Given the description of an element on the screen output the (x, y) to click on. 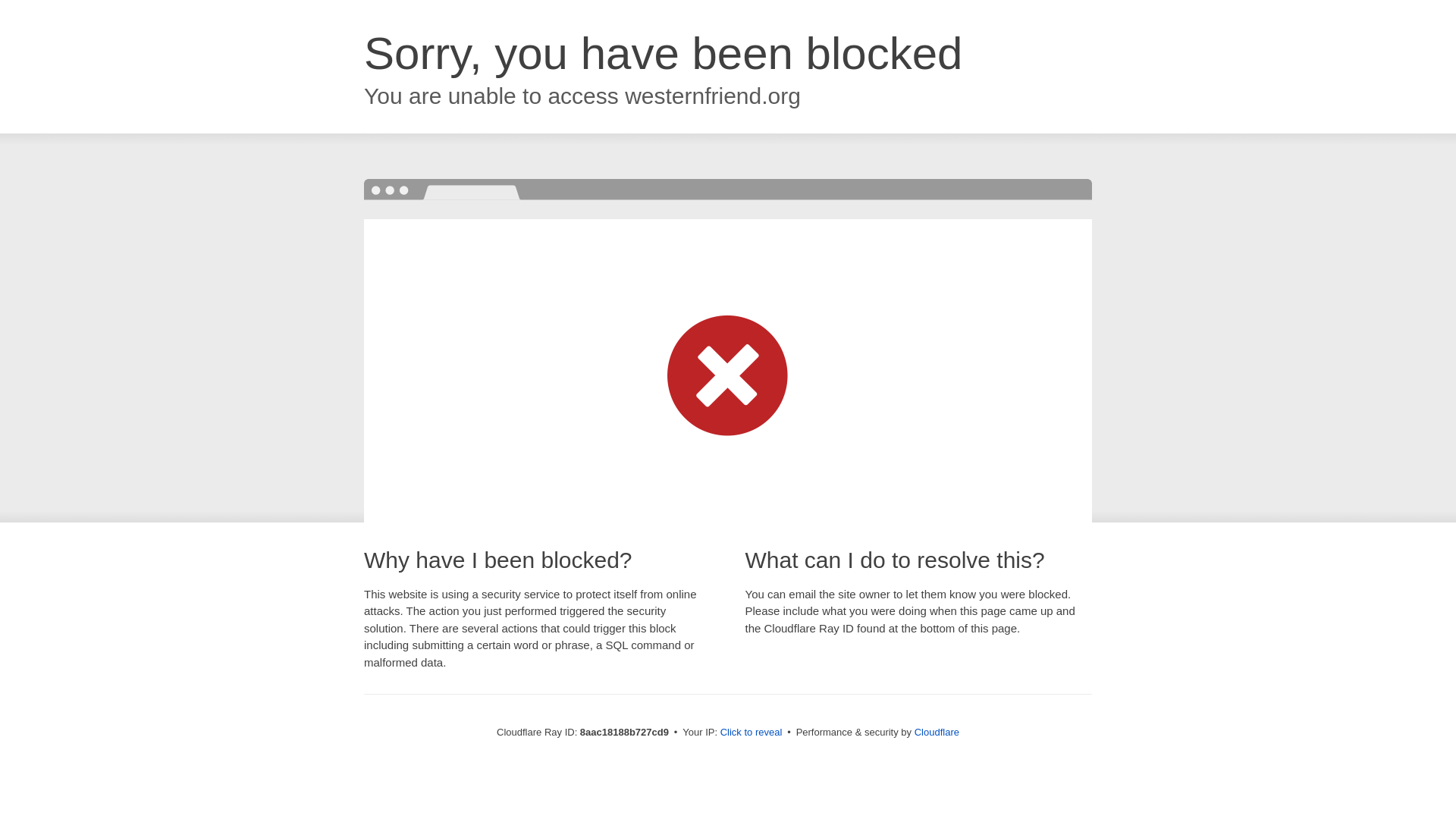
Cloudflare (936, 731)
Click to reveal (751, 732)
